Given the description of an element on the screen output the (x, y) to click on. 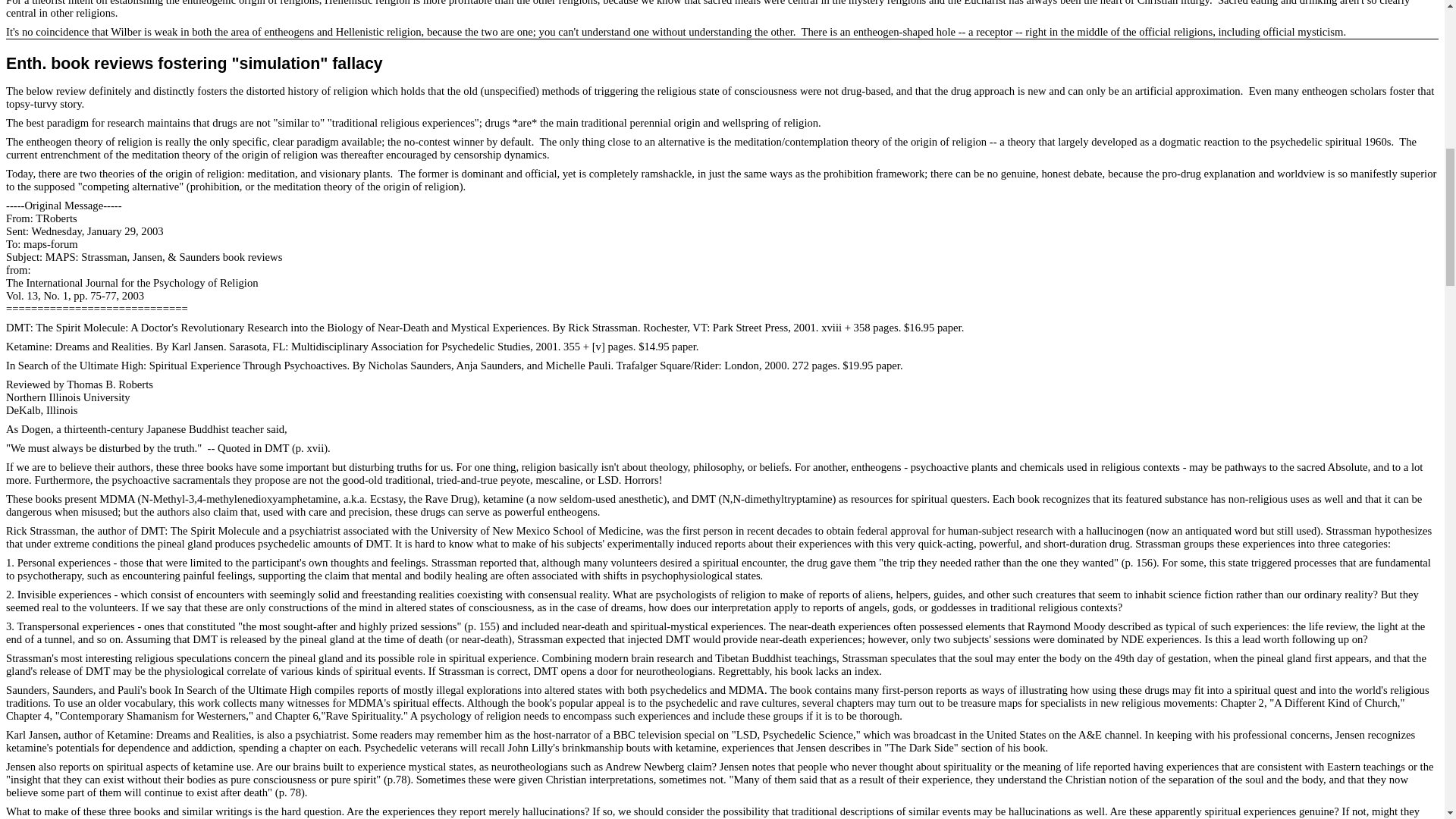
Enth. book reviews fostering "simulation" fallacy (193, 63)
